Given the description of an element on the screen output the (x, y) to click on. 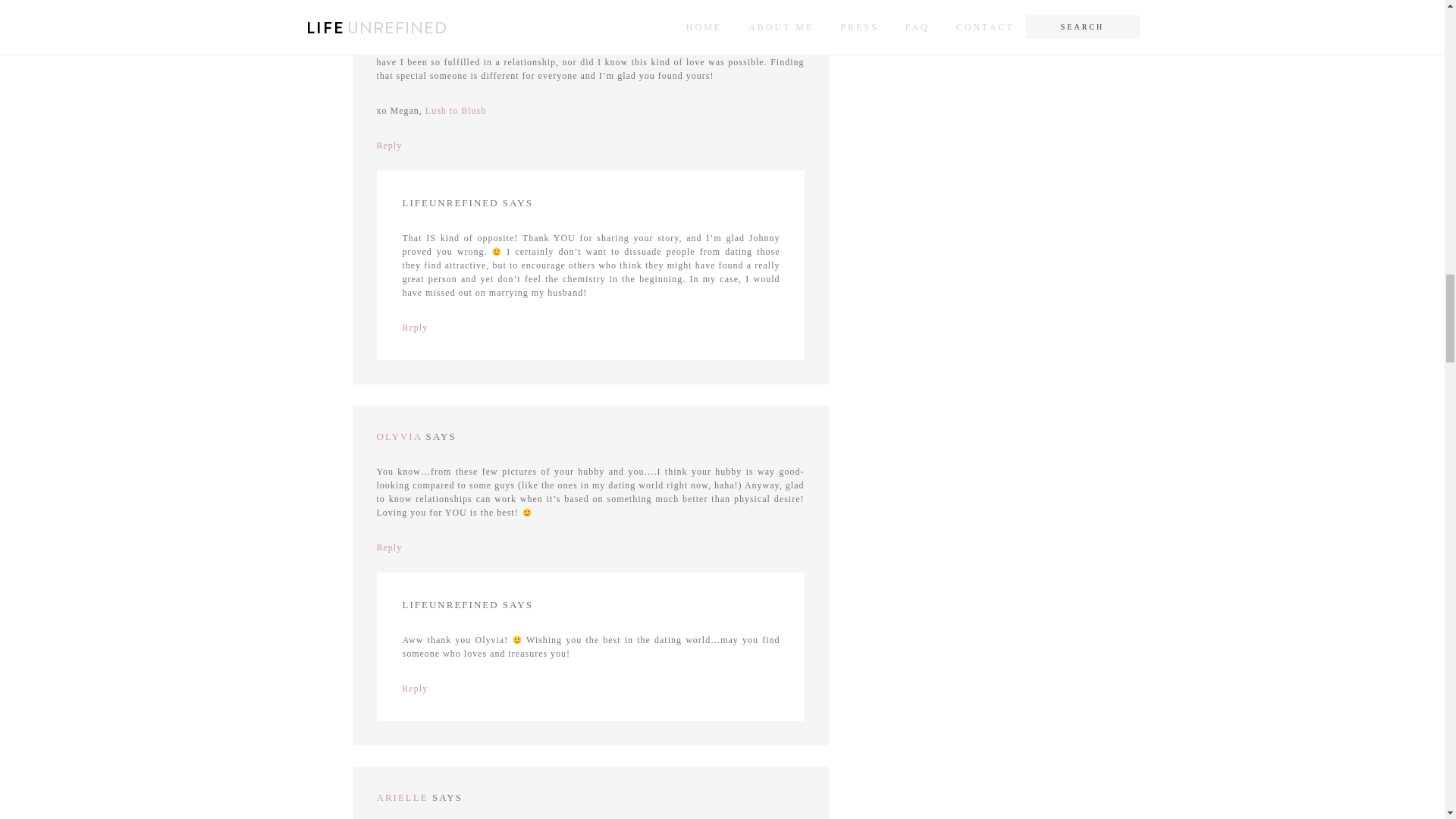
OLYVIA (398, 436)
Reply (388, 547)
Lush to Blush (455, 110)
Reply (388, 145)
Reply (414, 327)
